Given the description of an element on the screen output the (x, y) to click on. 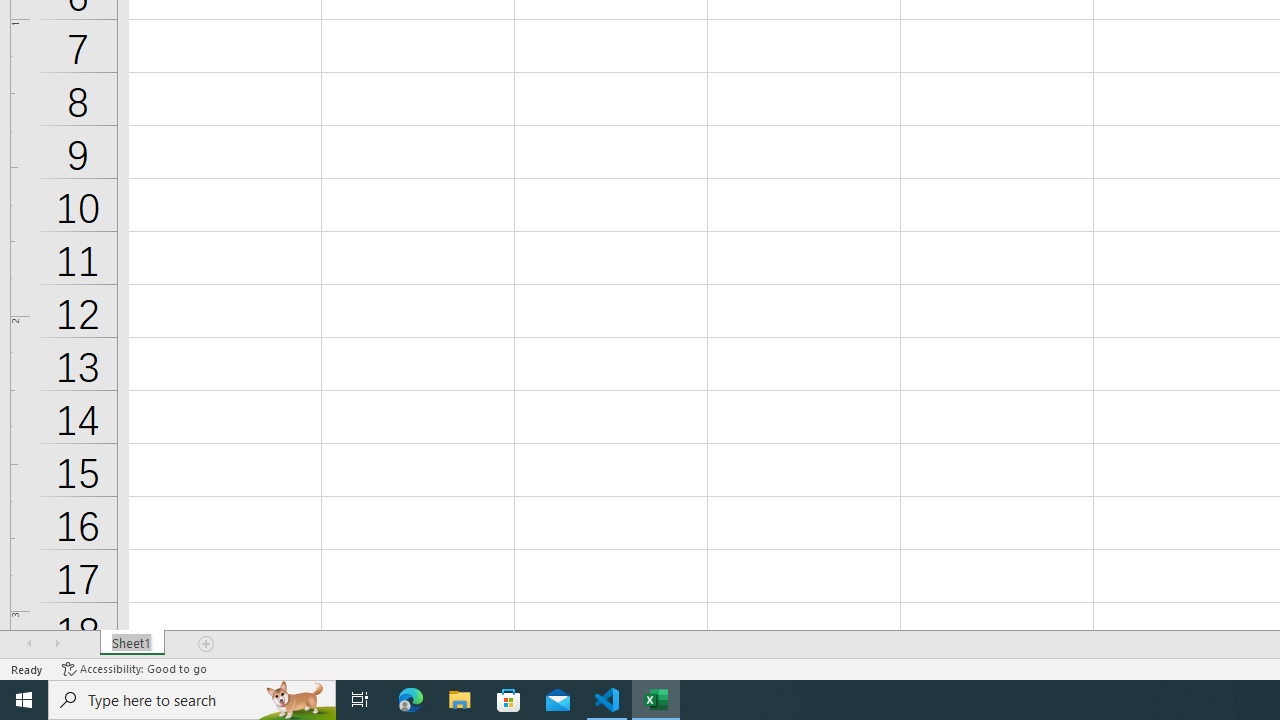
Sheet Tab (132, 644)
